Given the description of an element on the screen output the (x, y) to click on. 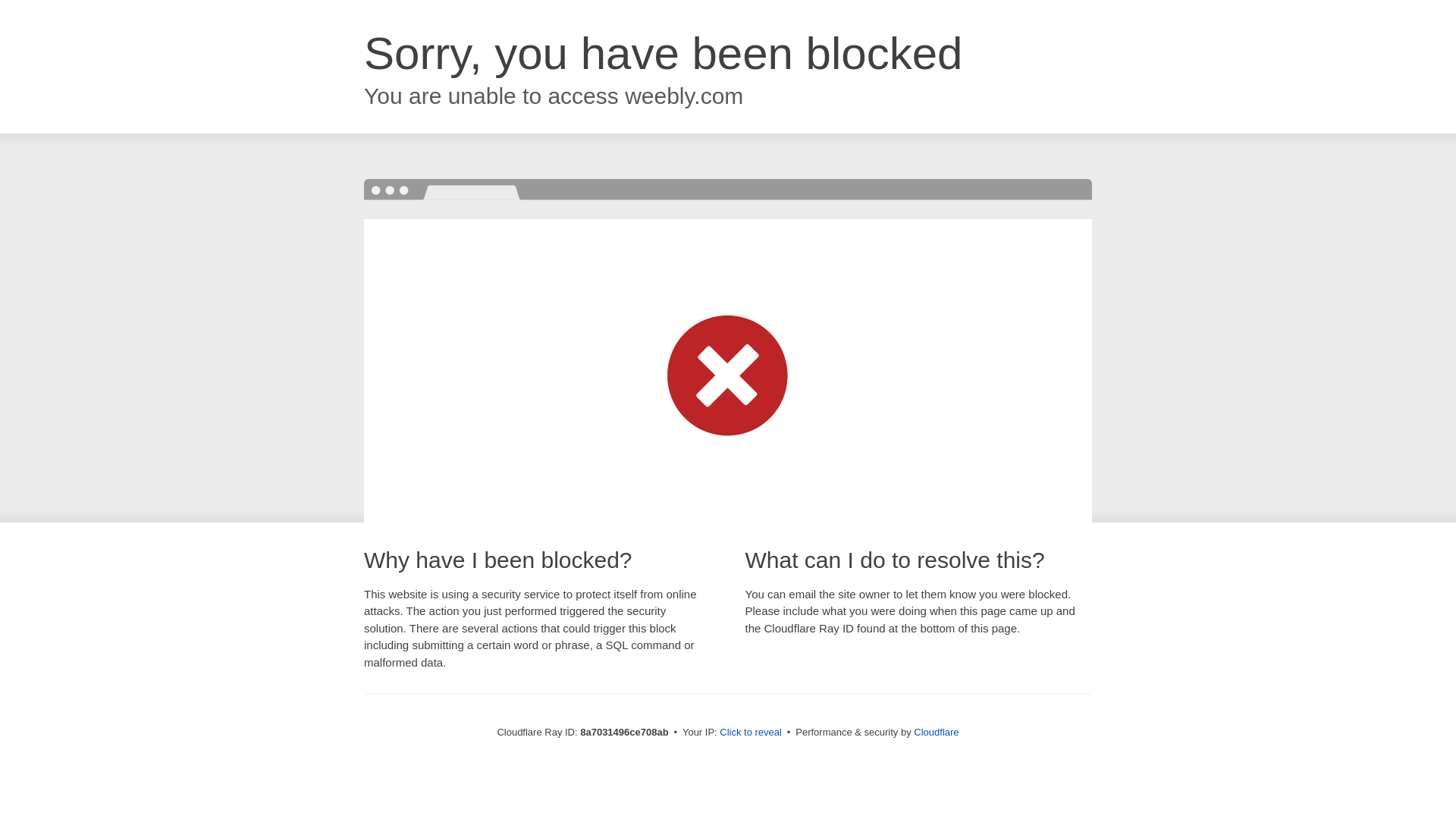
Cloudflare (936, 731)
Click to reveal (750, 732)
